Given the description of an element on the screen output the (x, y) to click on. 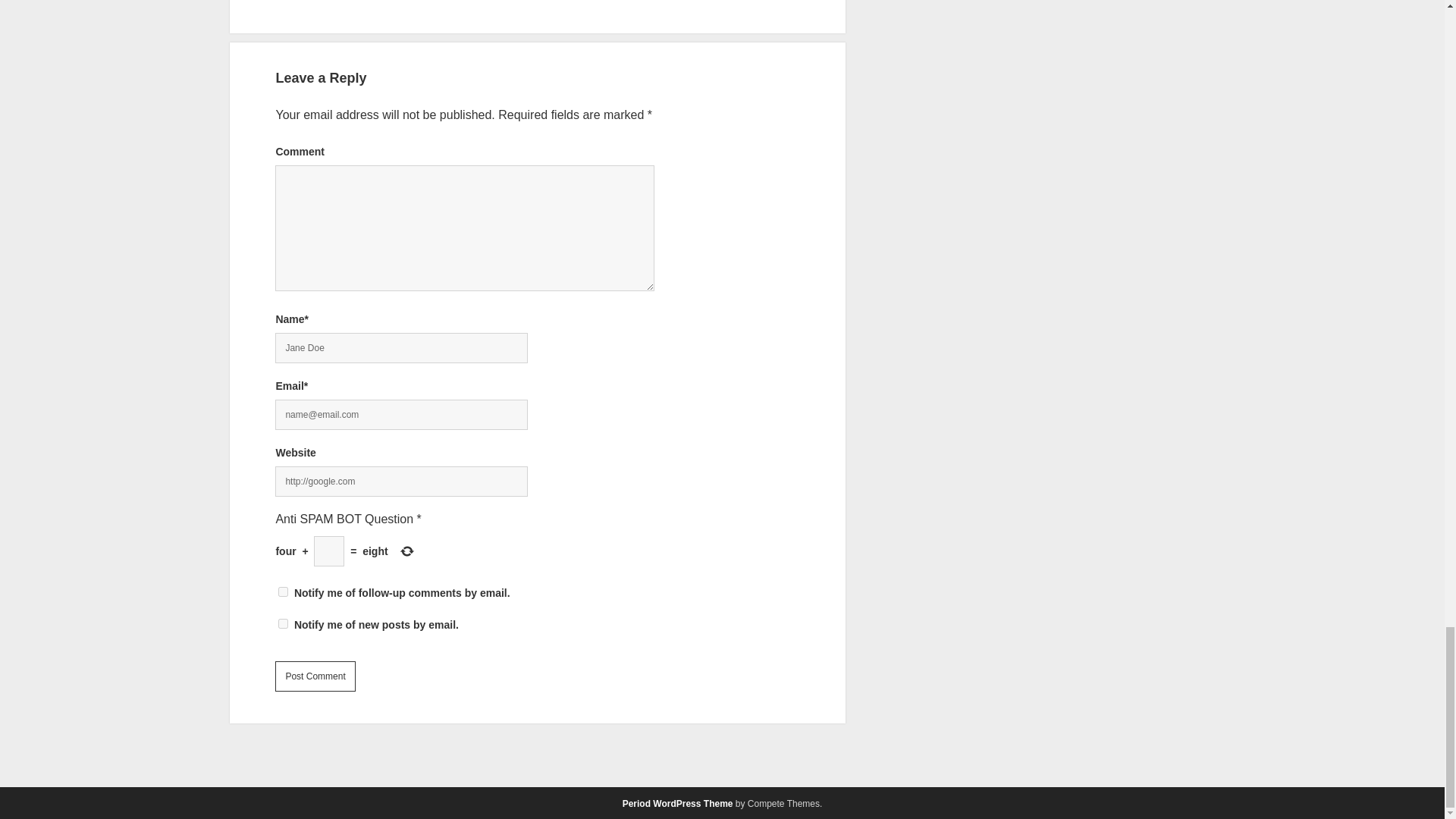
Post Comment (315, 675)
subscribe (283, 623)
Post Comment (315, 675)
subscribe (283, 592)
